Given the description of an element on the screen output the (x, y) to click on. 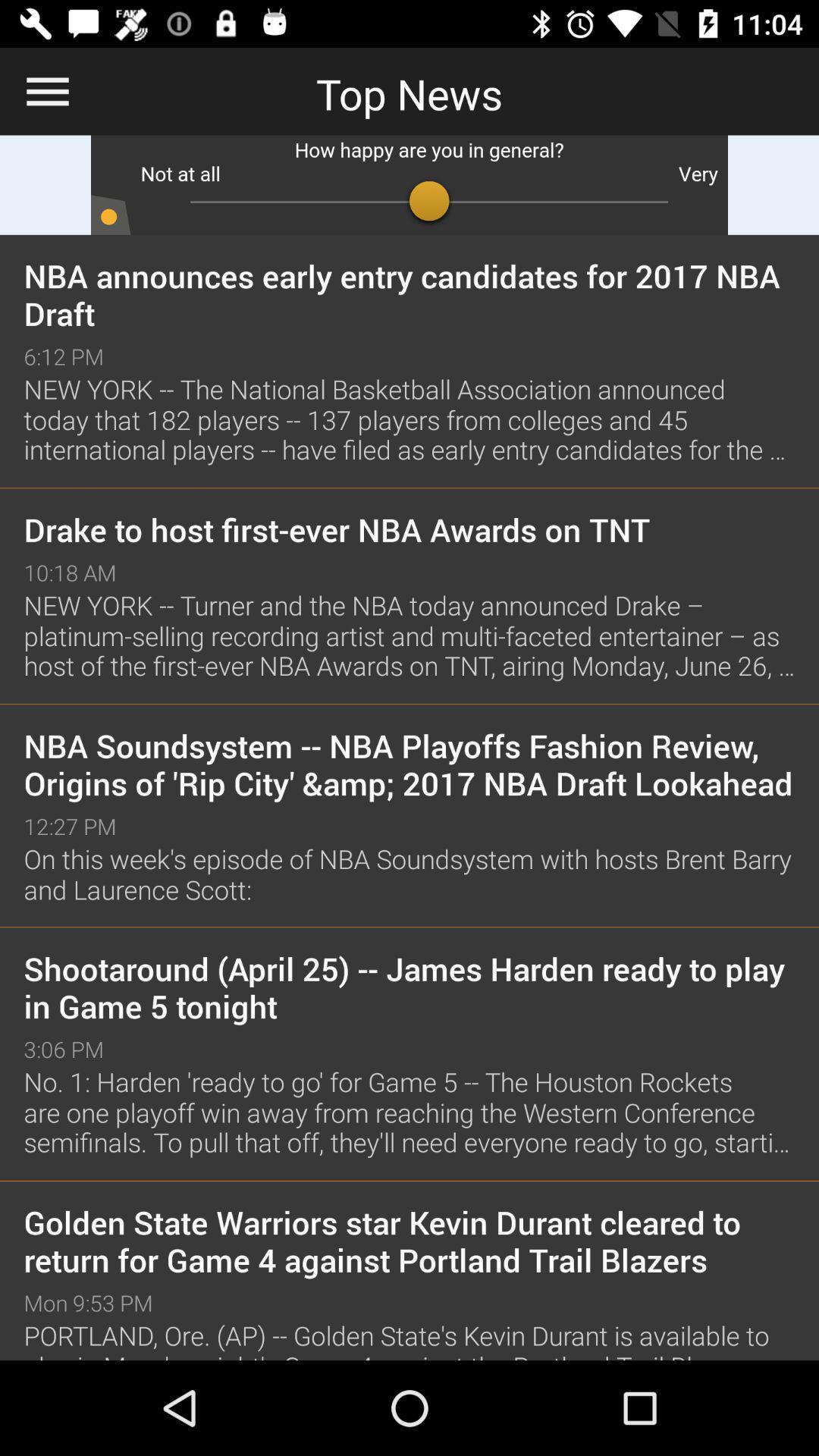
sports (409, 184)
